Given the description of an element on the screen output the (x, y) to click on. 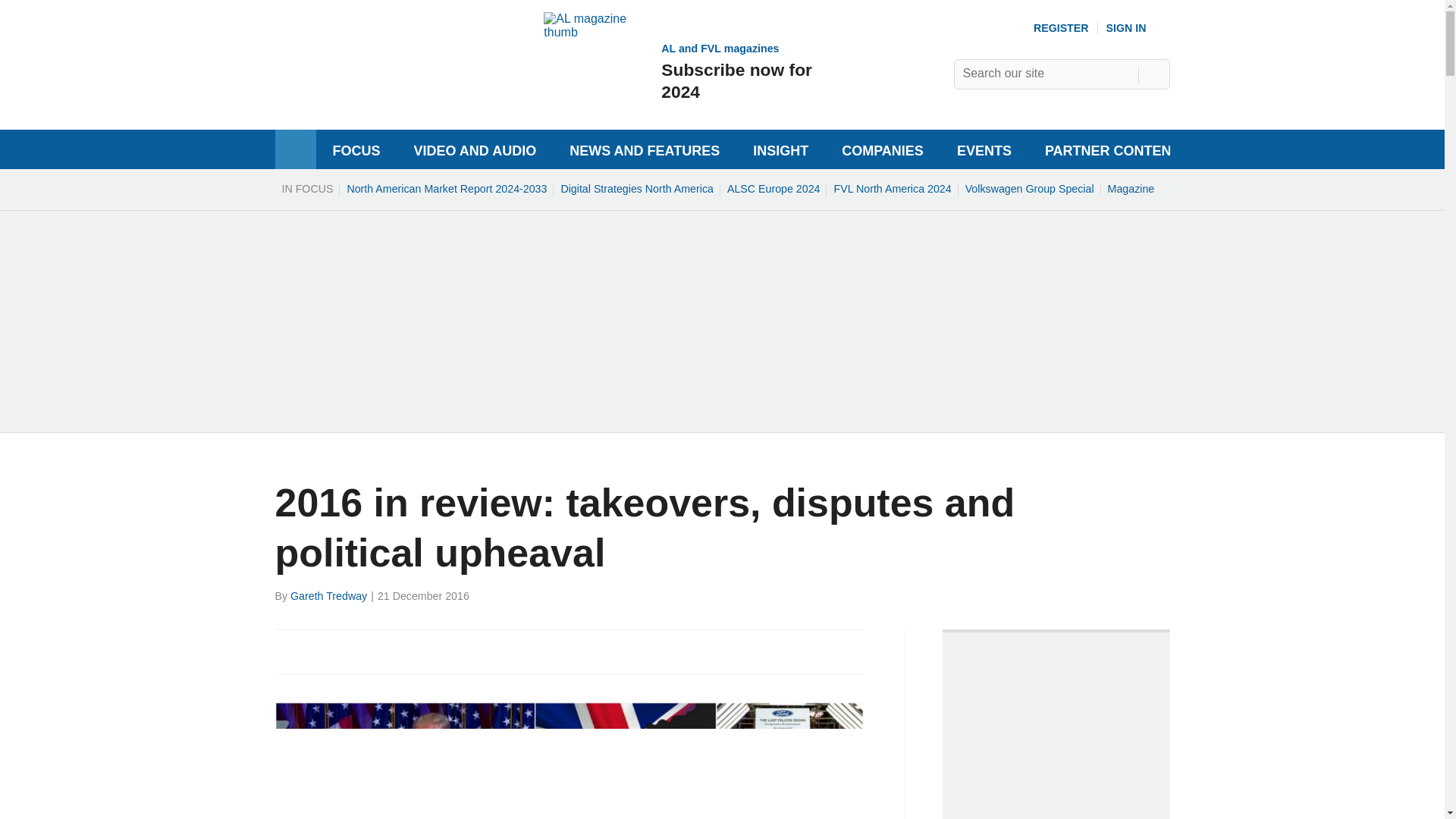
Volkswagen Group Special (679, 70)
REGISTER (1029, 188)
Share this on Facebook (1061, 28)
FVL North America 2024 (288, 651)
SEARCH (892, 188)
Share this on Linked in (1153, 74)
SIGN IN (352, 651)
Magazine (1138, 28)
North American Market Report 2024-2033 (1130, 188)
Email this article (446, 188)
Automotive Logistics (386, 651)
Digital Strategies North America (375, 94)
Share this on Twitter (636, 188)
ALSC Europe 2024 (320, 651)
